Given the description of an element on the screen output the (x, y) to click on. 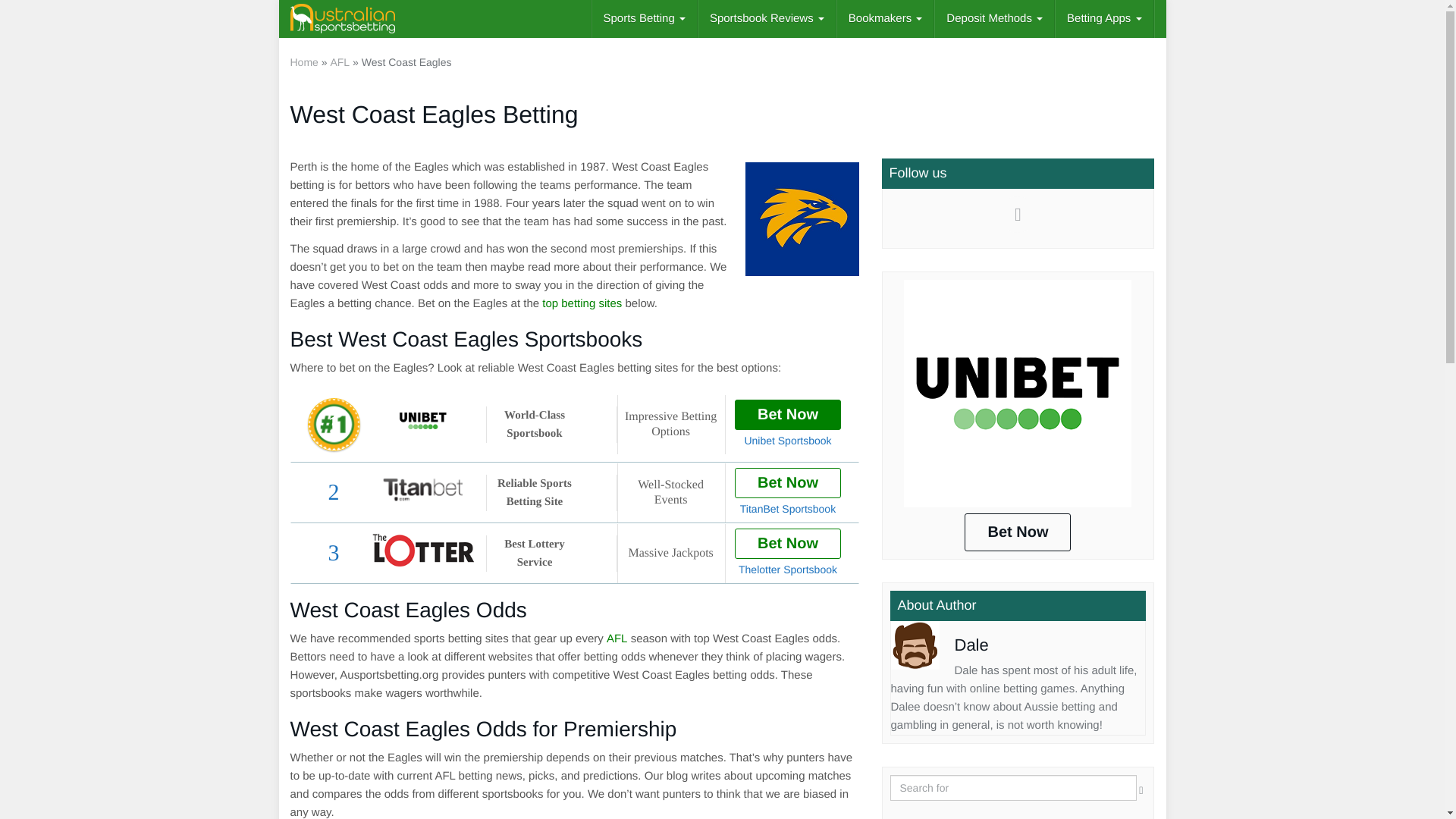
TitanBet Sportsbook (422, 489)
Thelotter Sportsbook (422, 550)
Bet on West Coast Eagles (801, 219)
Sportsbook Reviews (766, 18)
Betting Apps (1104, 18)
Au Sports Betting (342, 18)
Deposit Methods (994, 18)
Unibet (1017, 393)
Bookmakers (885, 18)
Unibet Sportsbook (422, 420)
